Given the description of an element on the screen output the (x, y) to click on. 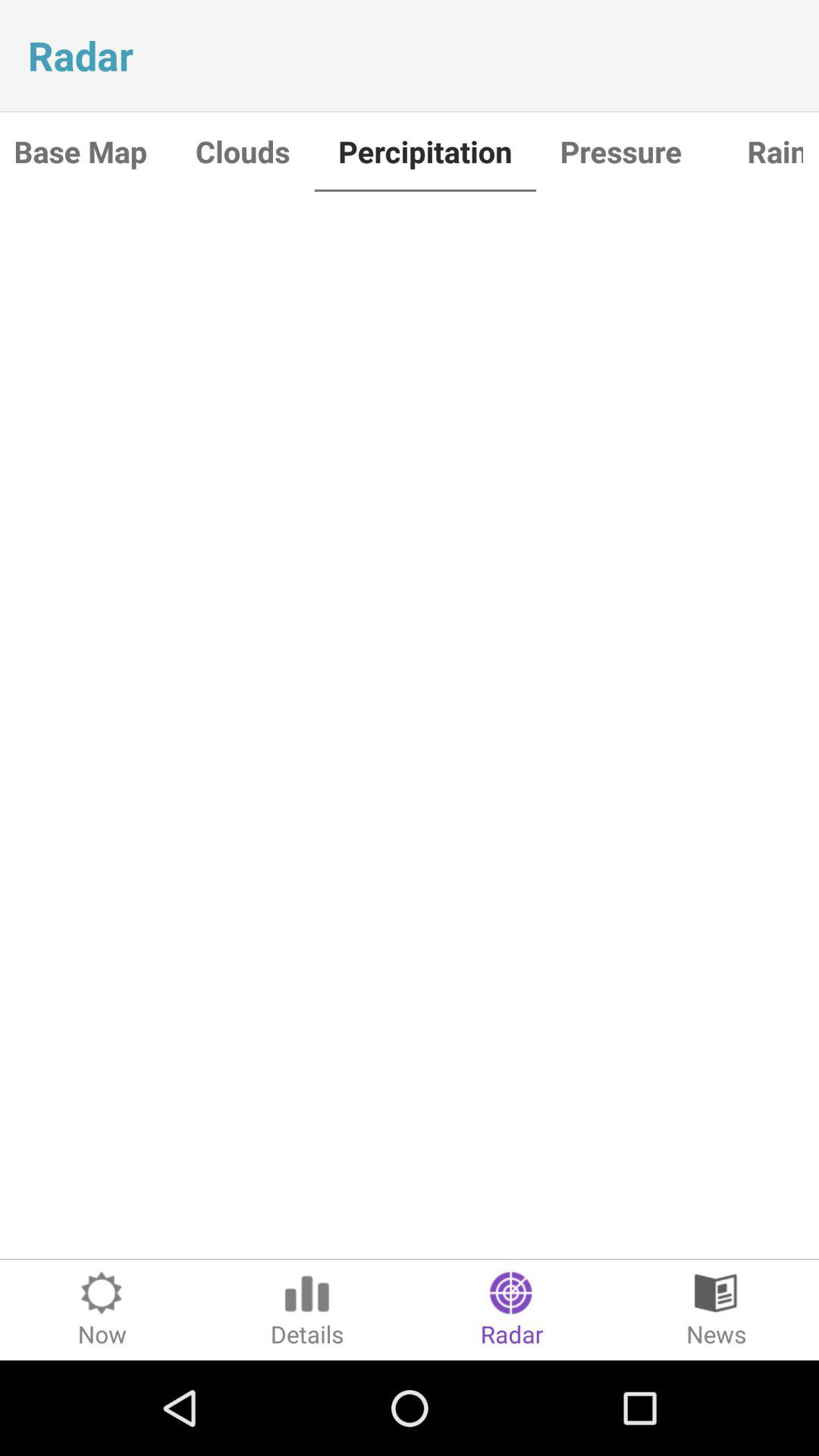
scroll to the details icon (306, 1310)
